Given the description of an element on the screen output the (x, y) to click on. 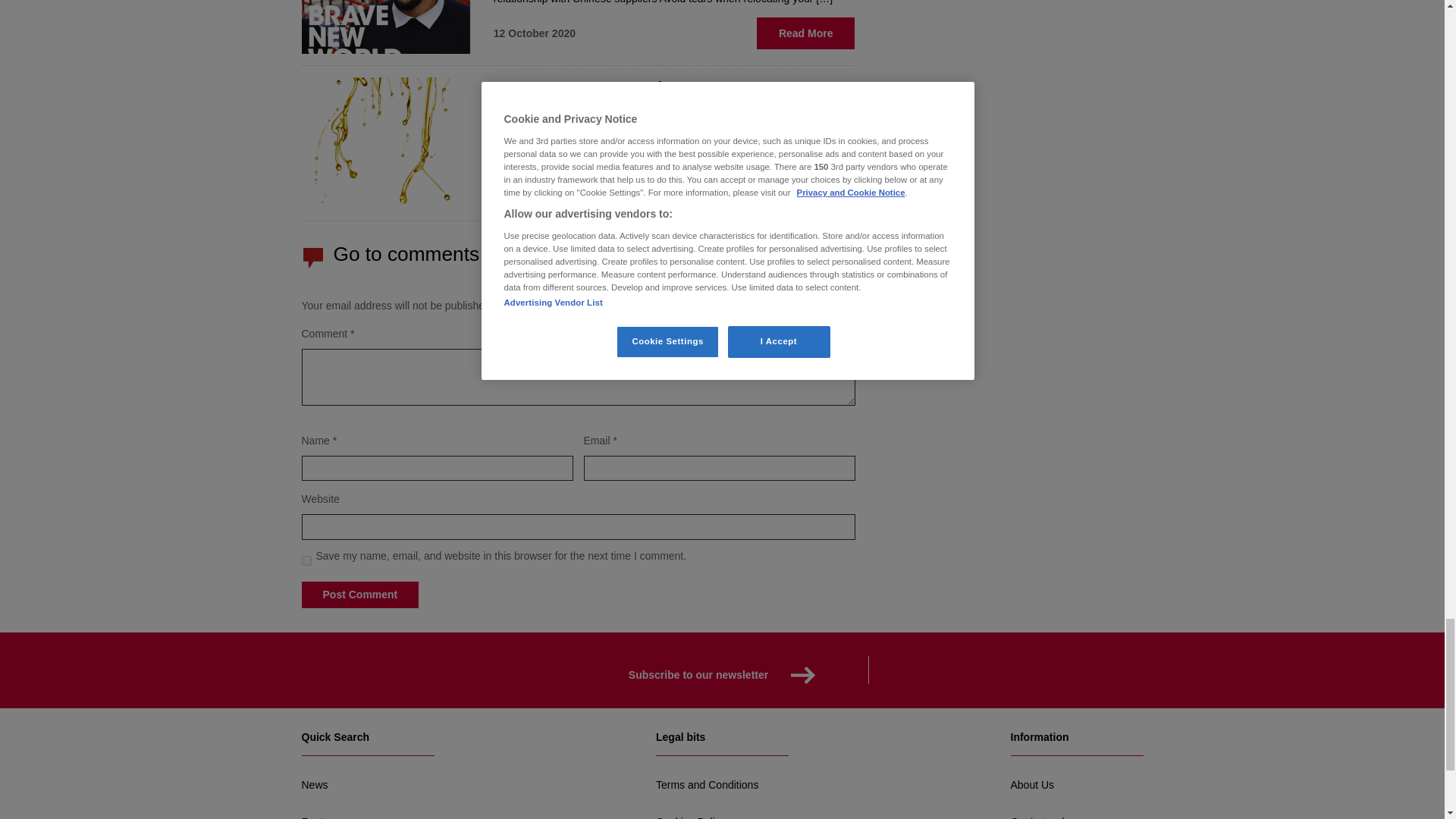
Post Comment (360, 594)
